Given the description of an element on the screen output the (x, y) to click on. 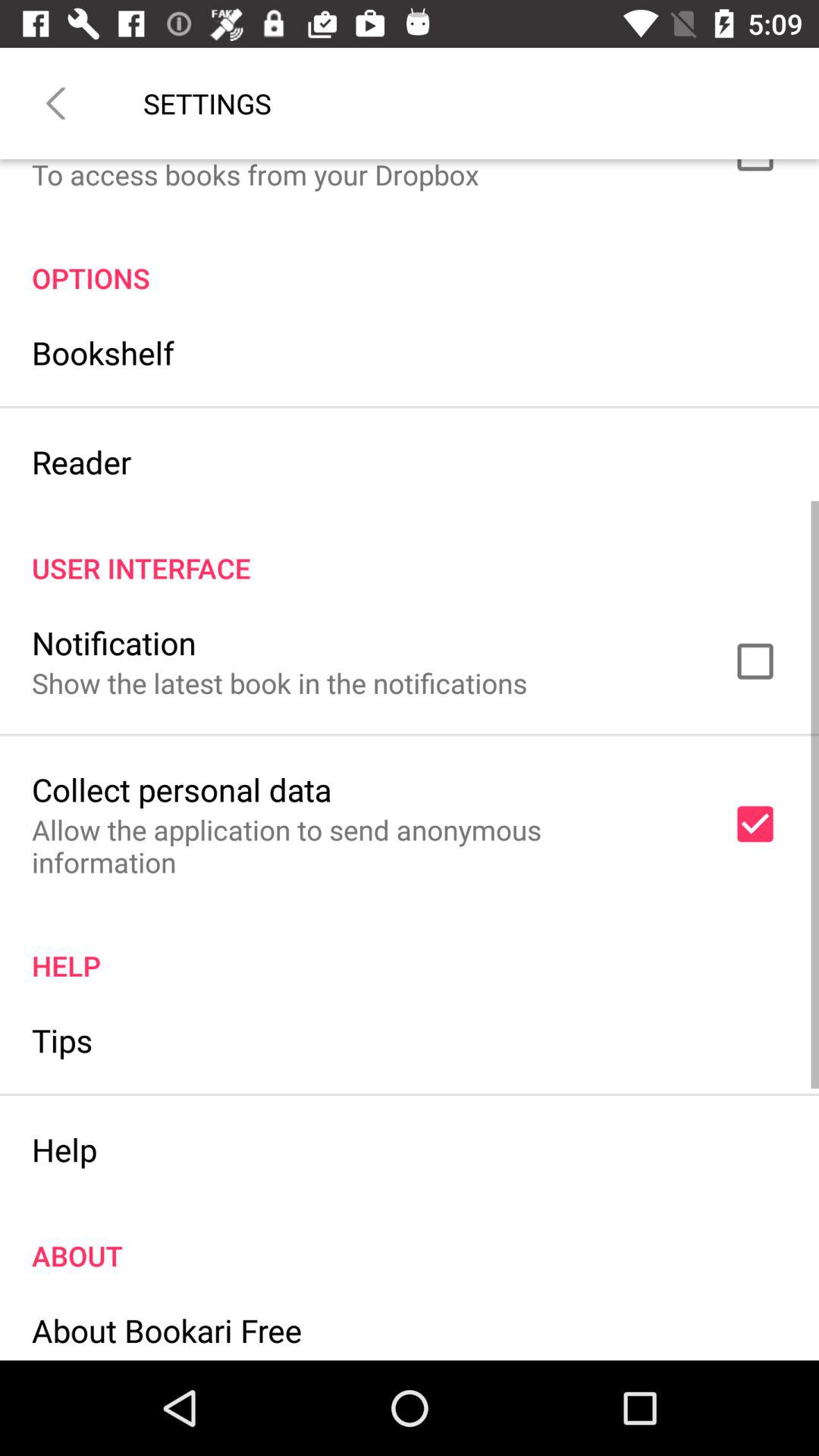
press the item below the bookshelf item (81, 461)
